Given the description of an element on the screen output the (x, y) to click on. 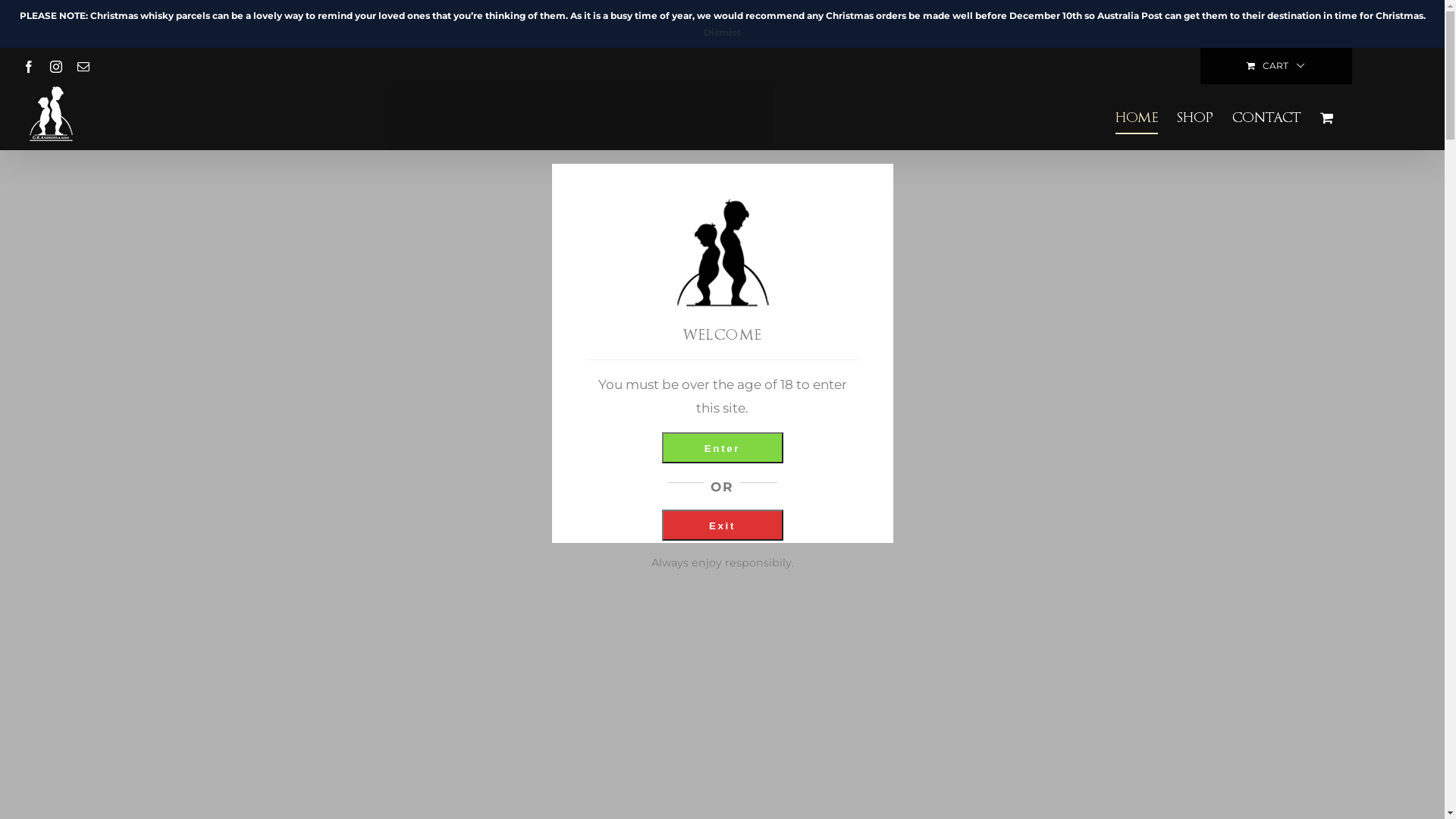
Instagram Element type: text (56, 66)
HOME Element type: text (1136, 116)
Facebook Element type: text (28, 66)
Exit Element type: text (721, 524)
CART Element type: text (1276, 65)
CONTACT Element type: text (1266, 116)
Email Element type: text (83, 66)
Dismiss Element type: text (721, 31)
SHOP Element type: text (1194, 116)
fleurieu distillery logo white 600px Element type: hover (722, 500)
Enter Element type: text (721, 447)
